Given the description of an element on the screen output the (x, y) to click on. 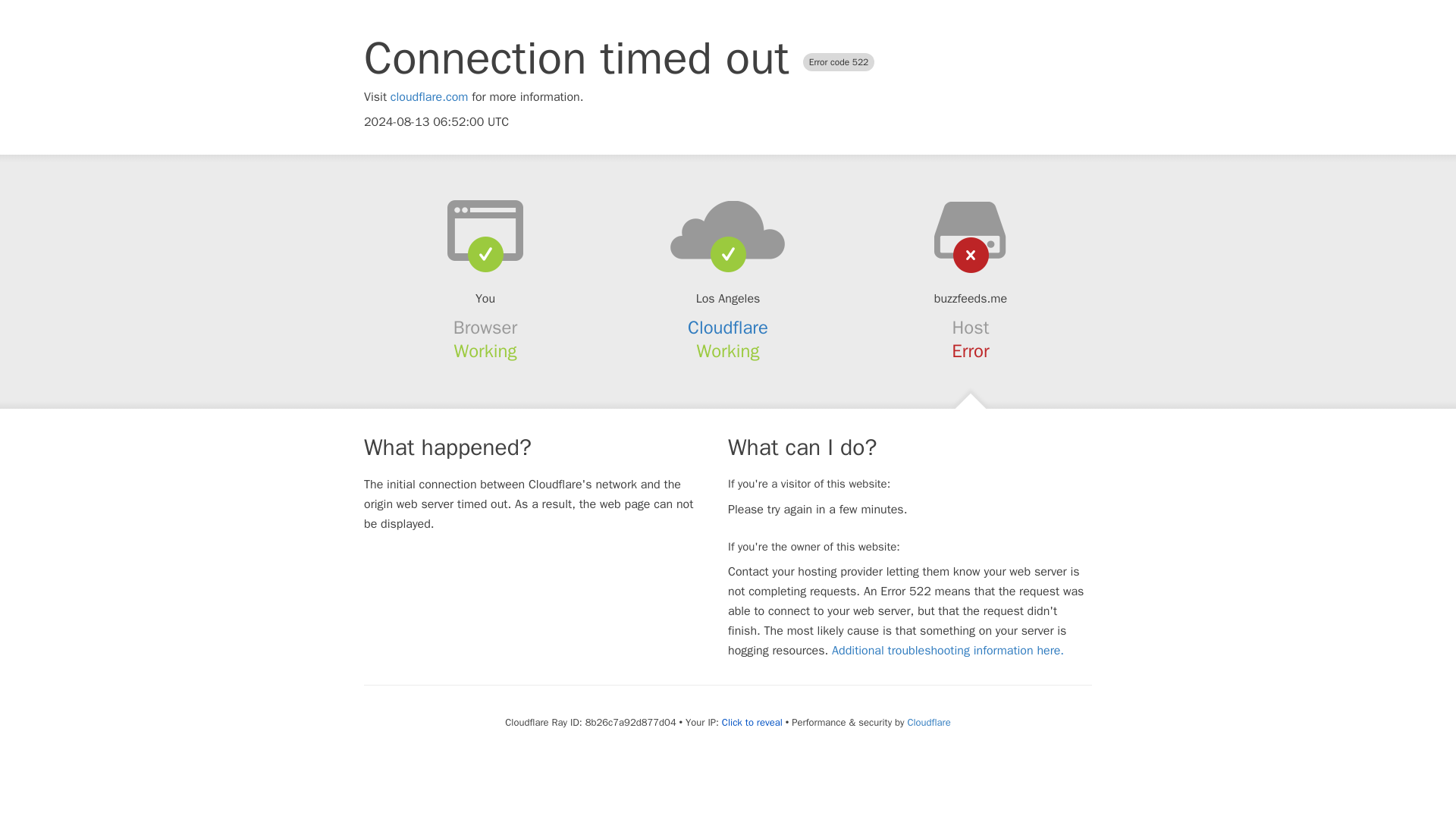
Cloudflare (727, 327)
Additional troubleshooting information here. (947, 650)
Click to reveal (752, 722)
cloudflare.com (429, 96)
Cloudflare (928, 721)
